Given the description of an element on the screen output the (x, y) to click on. 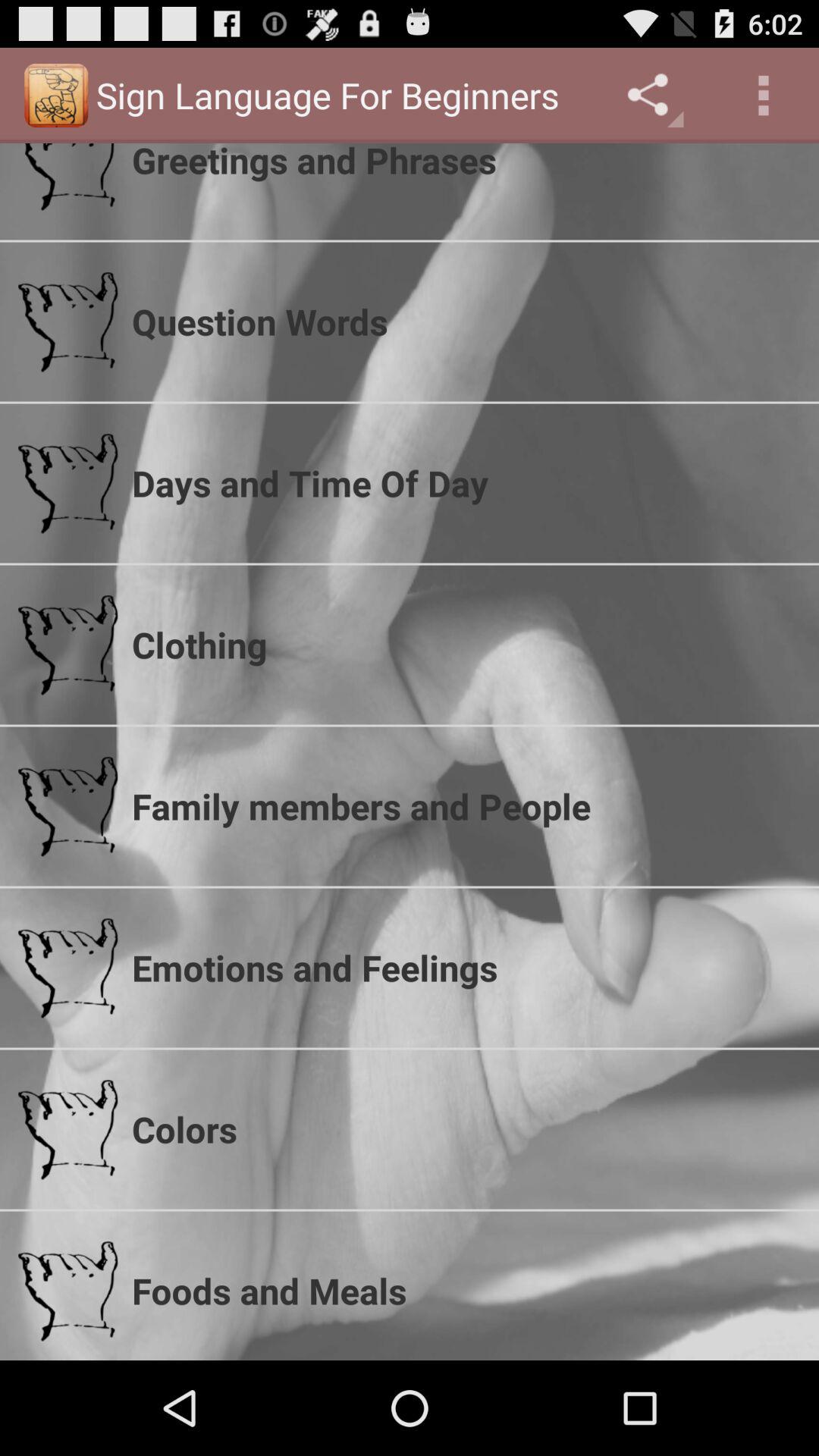
tap icon below days and time item (465, 644)
